Given the description of an element on the screen output the (x, y) to click on. 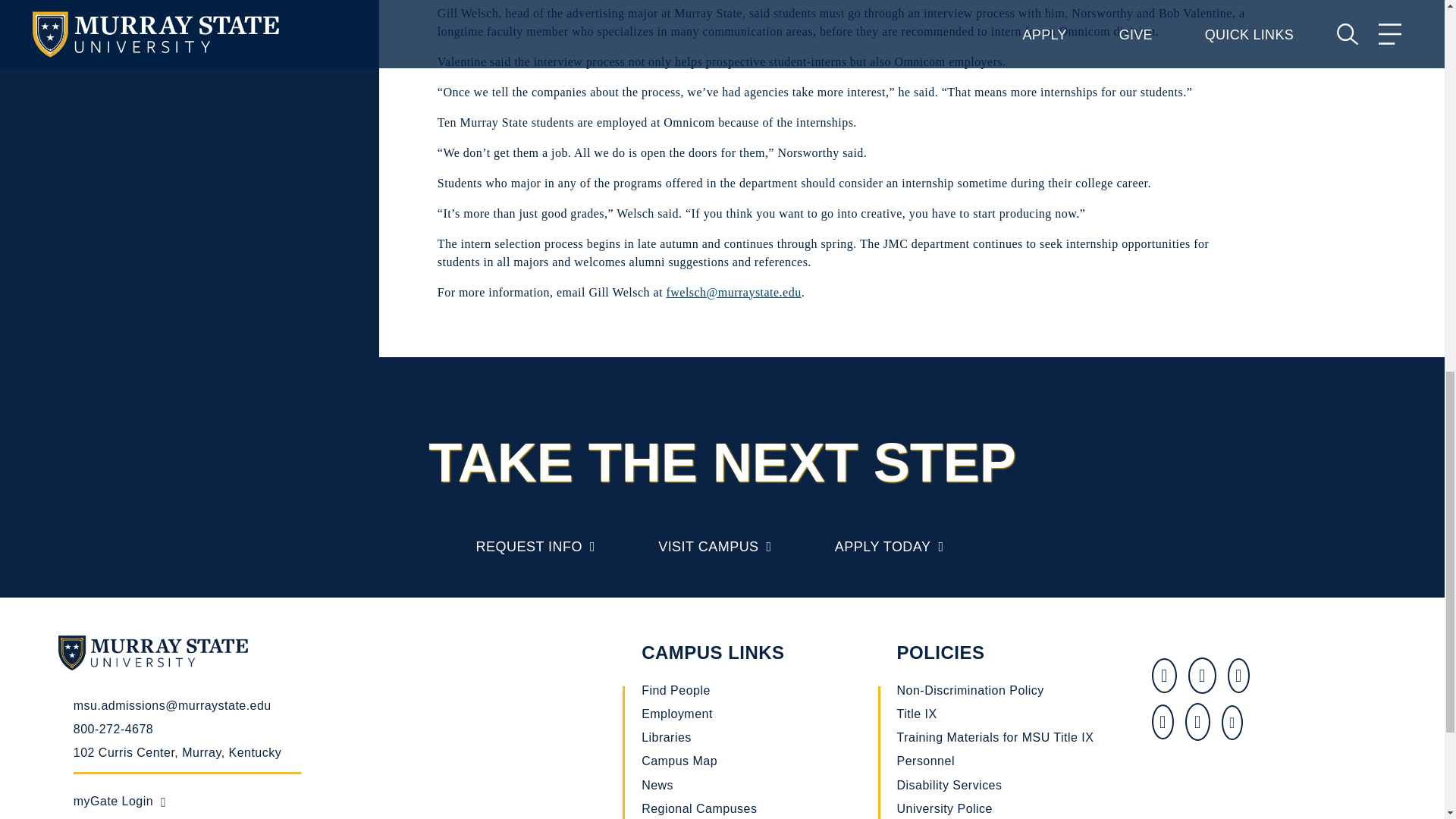
Email Professor Welsch (732, 291)
